Given the description of an element on the screen output the (x, y) to click on. 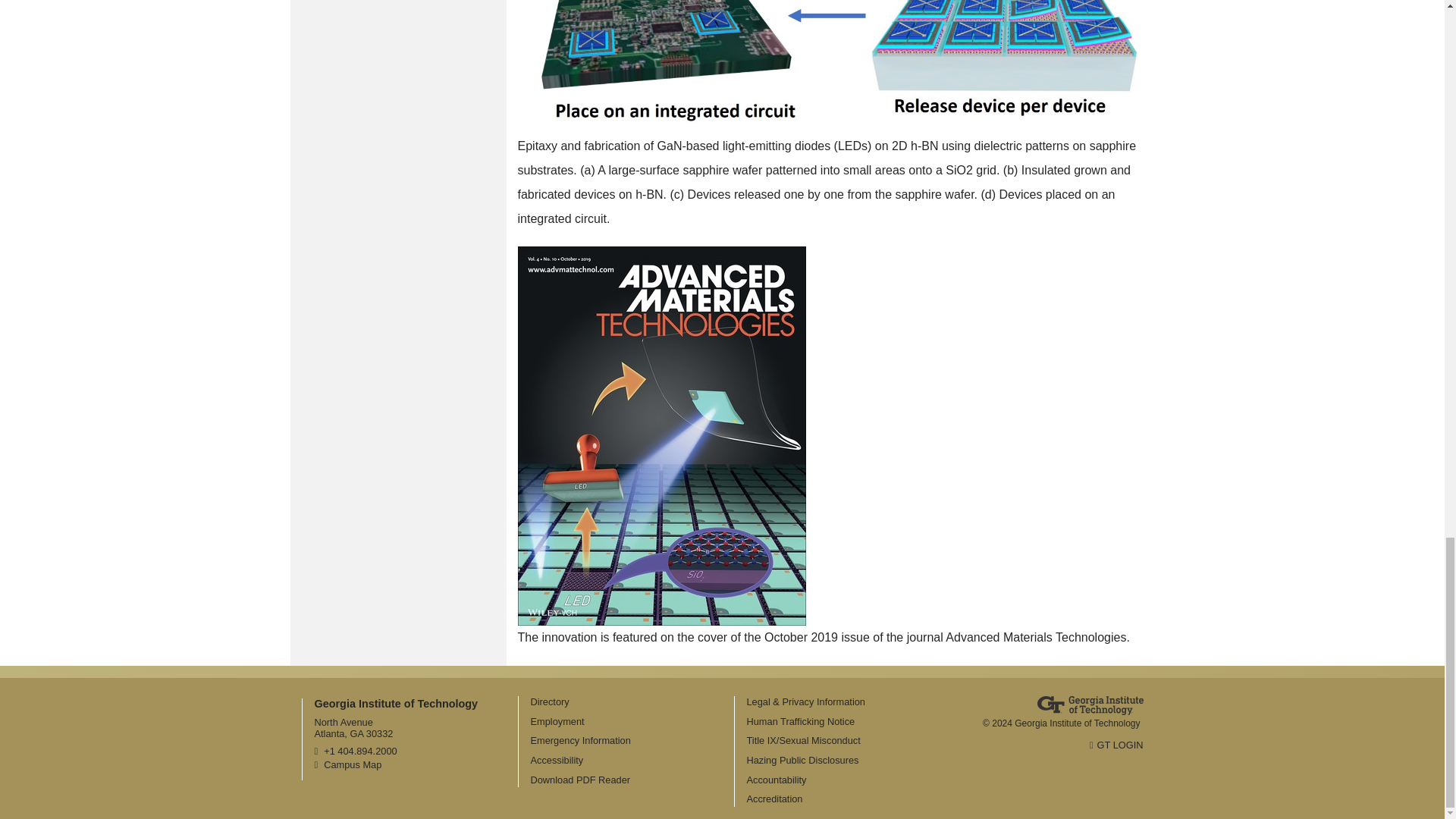
Heterogeneous Integration Method for III-Nitride Devices (829, 66)
